Given the description of an element on the screen output the (x, y) to click on. 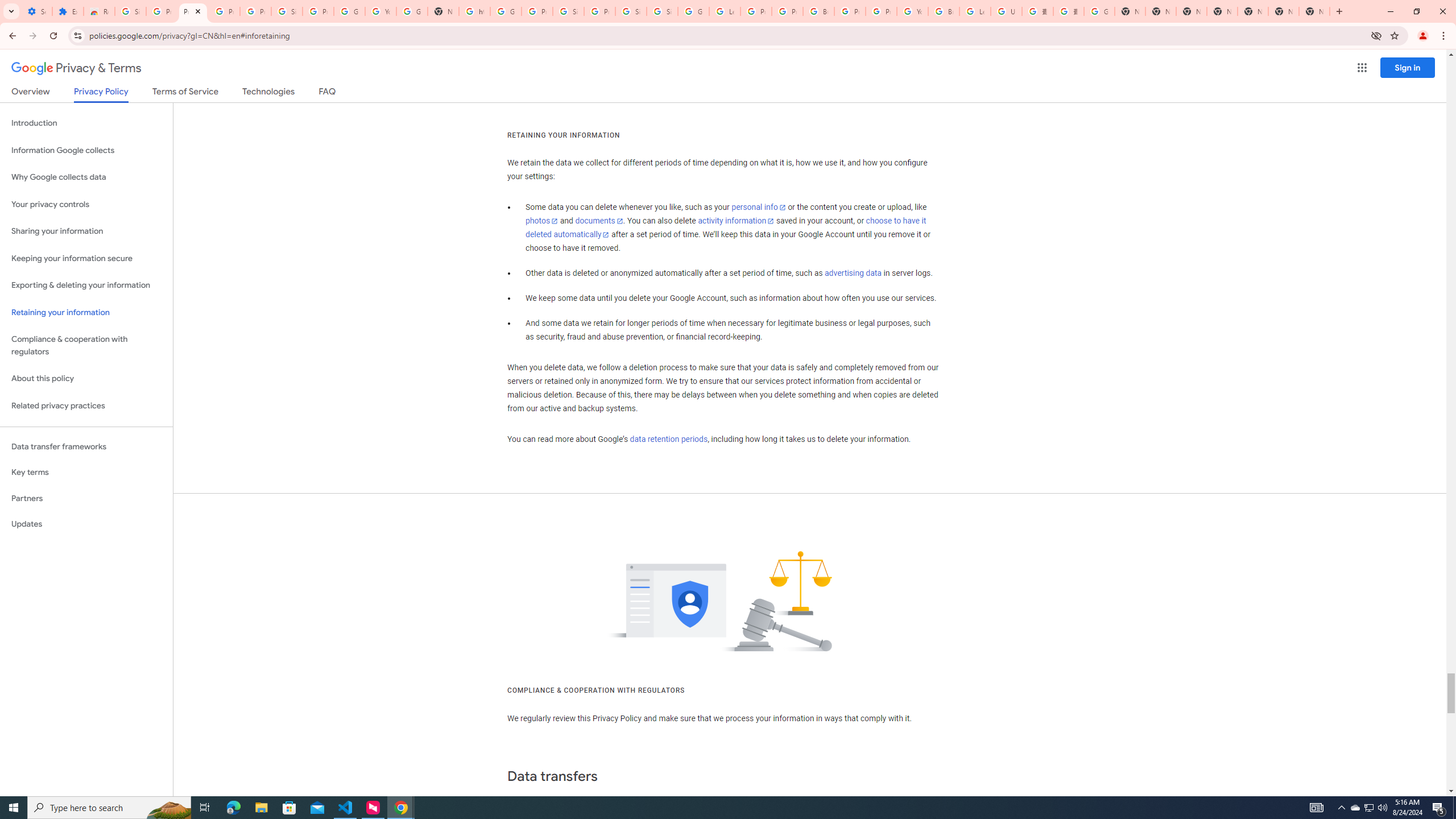
Key terms (86, 472)
Sign in - Google Accounts (130, 11)
Information Google collects (86, 150)
Why Google collects data (86, 176)
New Tab (1314, 11)
Privacy Help Center - Policies Help (787, 11)
Introduction (86, 122)
Settings - On startup (36, 11)
